Given the description of an element on the screen output the (x, y) to click on. 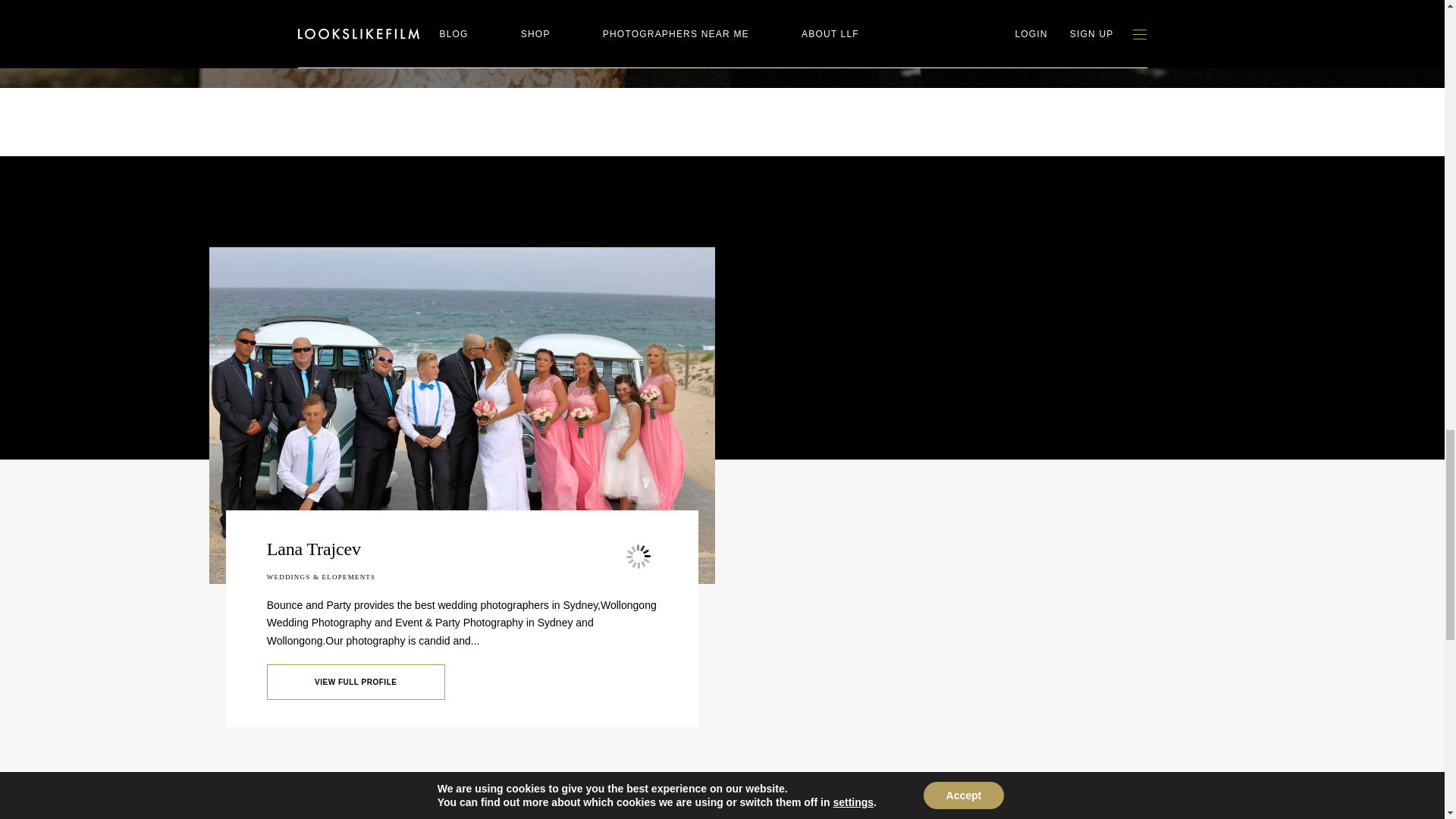
Lana Trajcev (313, 548)
VIEW FULL PROFILE (355, 682)
